Given the description of an element on the screen output the (x, y) to click on. 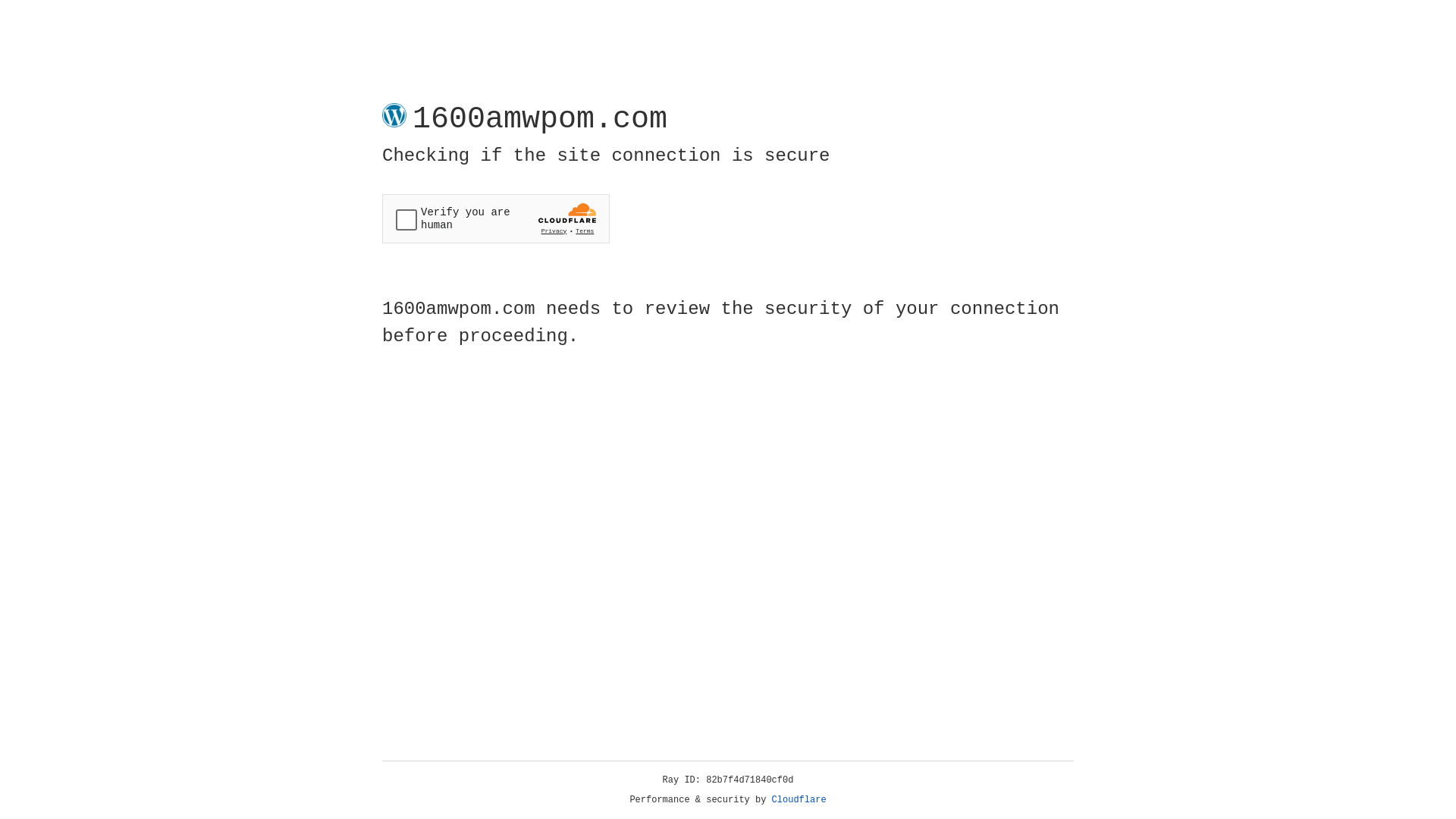
Widget containing a Cloudflare security challenge Element type: hover (495, 218)
Cloudflare Element type: text (798, 799)
